Given the description of an element on the screen output the (x, y) to click on. 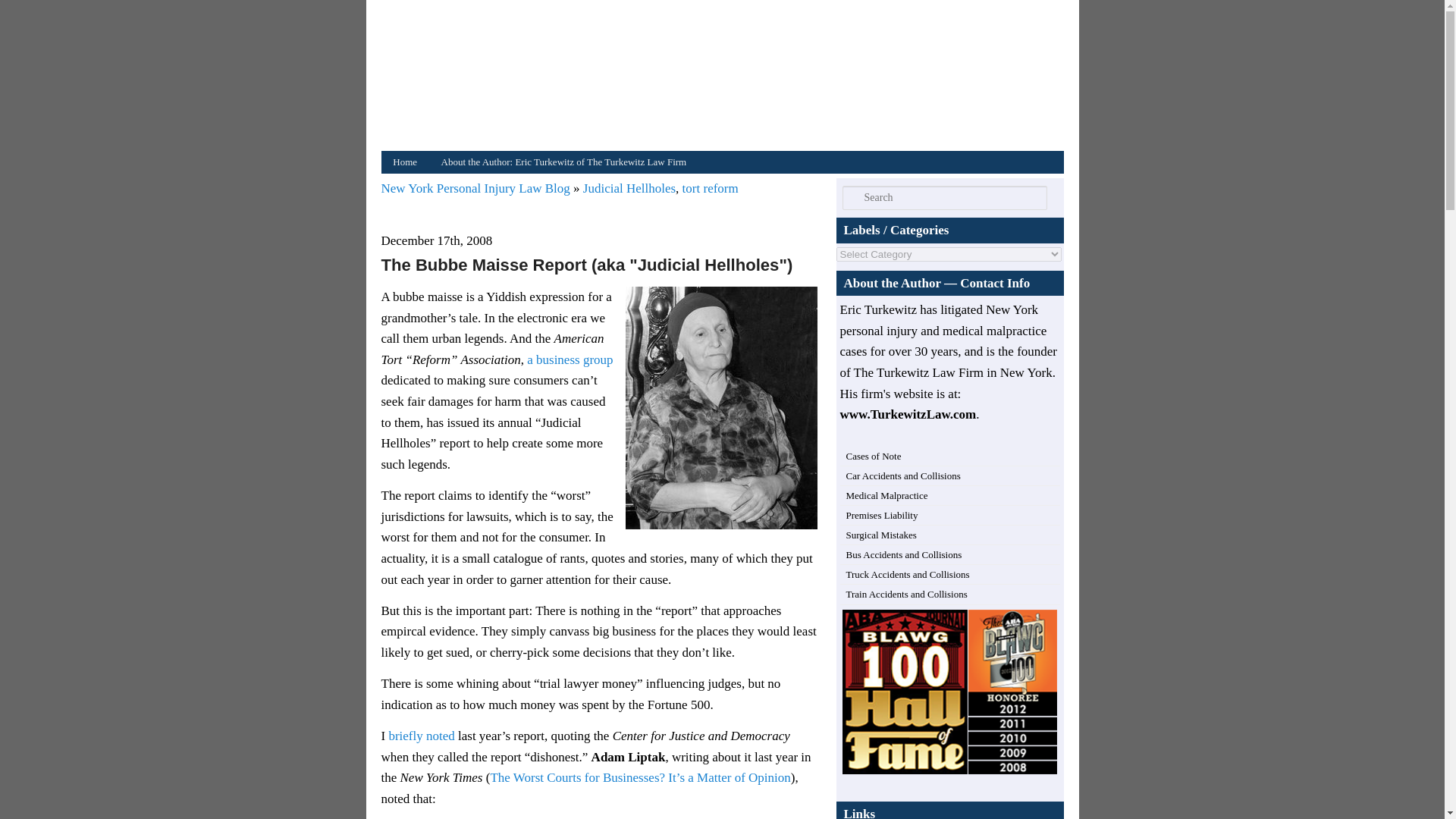
New York Personal Injury Law Blog (476, 187)
New York Personal Injury Law Blog (725, 79)
Cases of Note (873, 455)
About the Author: Eric Turkewitz of The Turkewitz Law Firm (563, 161)
www.TurkewitzLaw.com (908, 414)
The Turkewitz Law Firm in New York (952, 372)
briefly noted (421, 735)
Home (404, 161)
Home (725, 79)
New York Personal Injury Law Blog (476, 187)
Judicial Hellholes (629, 187)
Search (18, 11)
a business group (569, 359)
tort reform (710, 187)
